Given the description of an element on the screen output the (x, y) to click on. 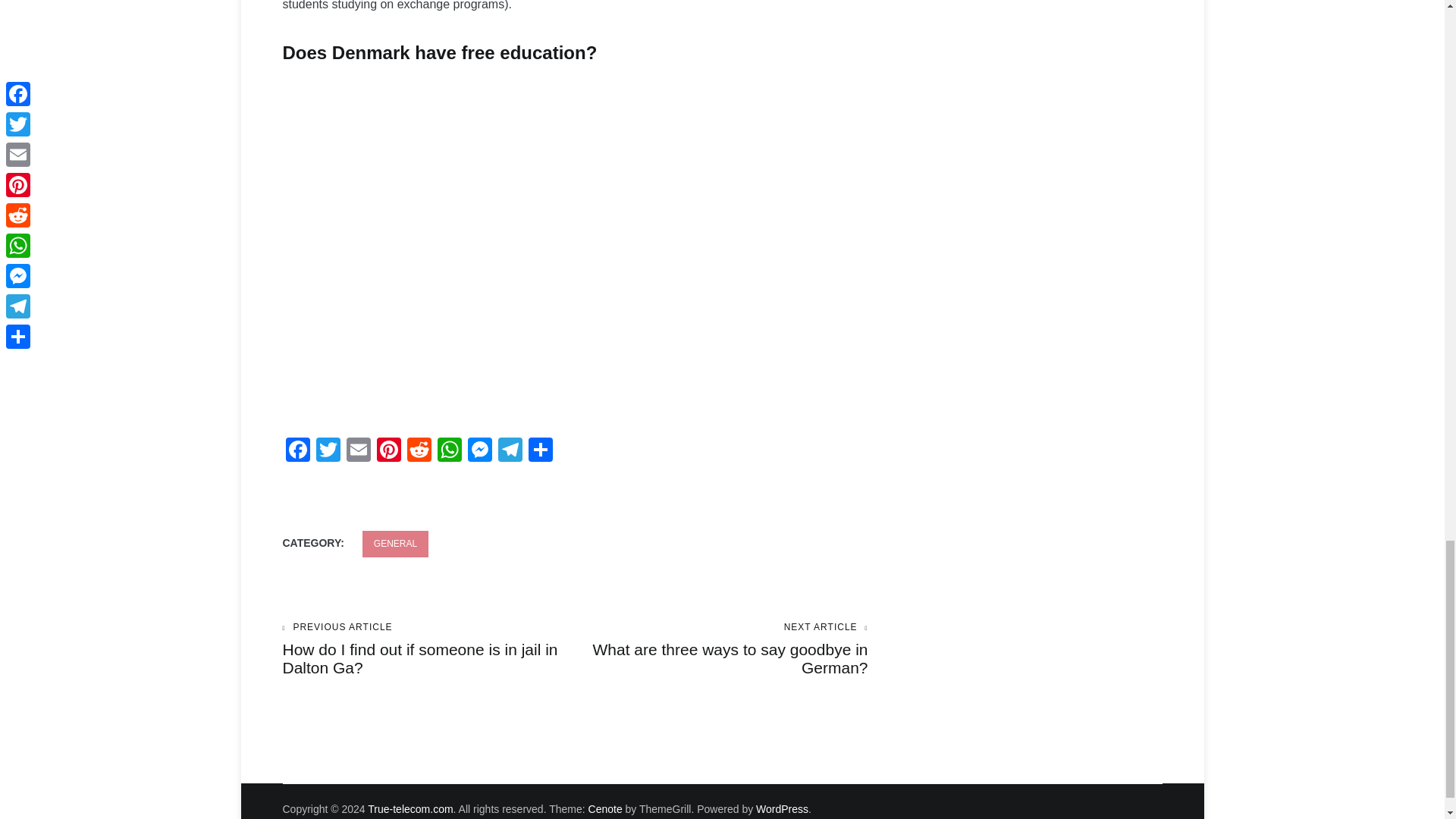
Messenger (479, 451)
Email (357, 451)
Twitter (327, 451)
Pinterest (387, 451)
Facebook (297, 451)
Messenger (479, 451)
True-telecom.com (410, 808)
Reddit (418, 451)
GENERAL (395, 543)
